Given the description of an element on the screen output the (x, y) to click on. 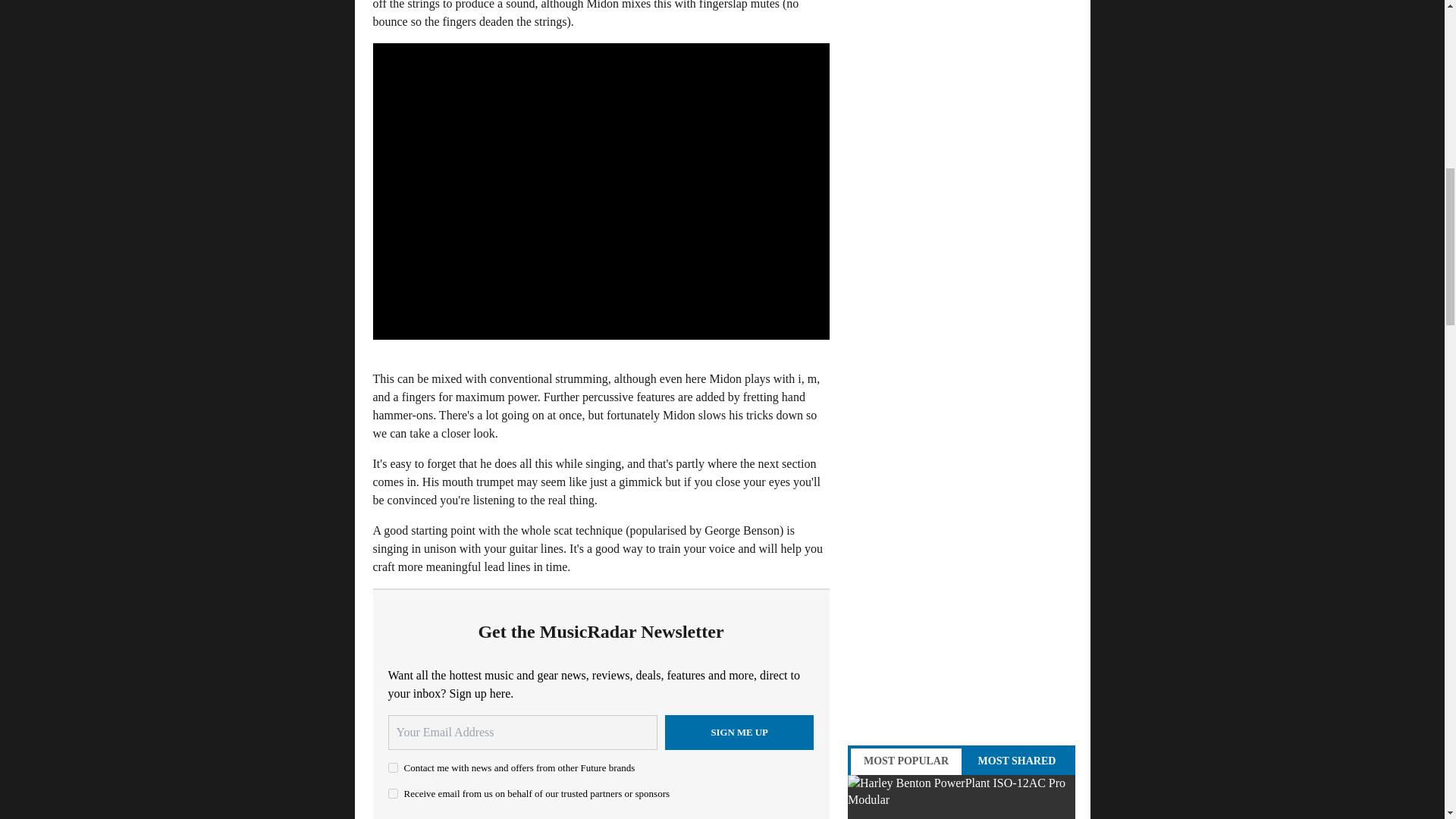
Sign me up (739, 732)
on (392, 793)
on (392, 767)
